Given the description of an element on the screen output the (x, y) to click on. 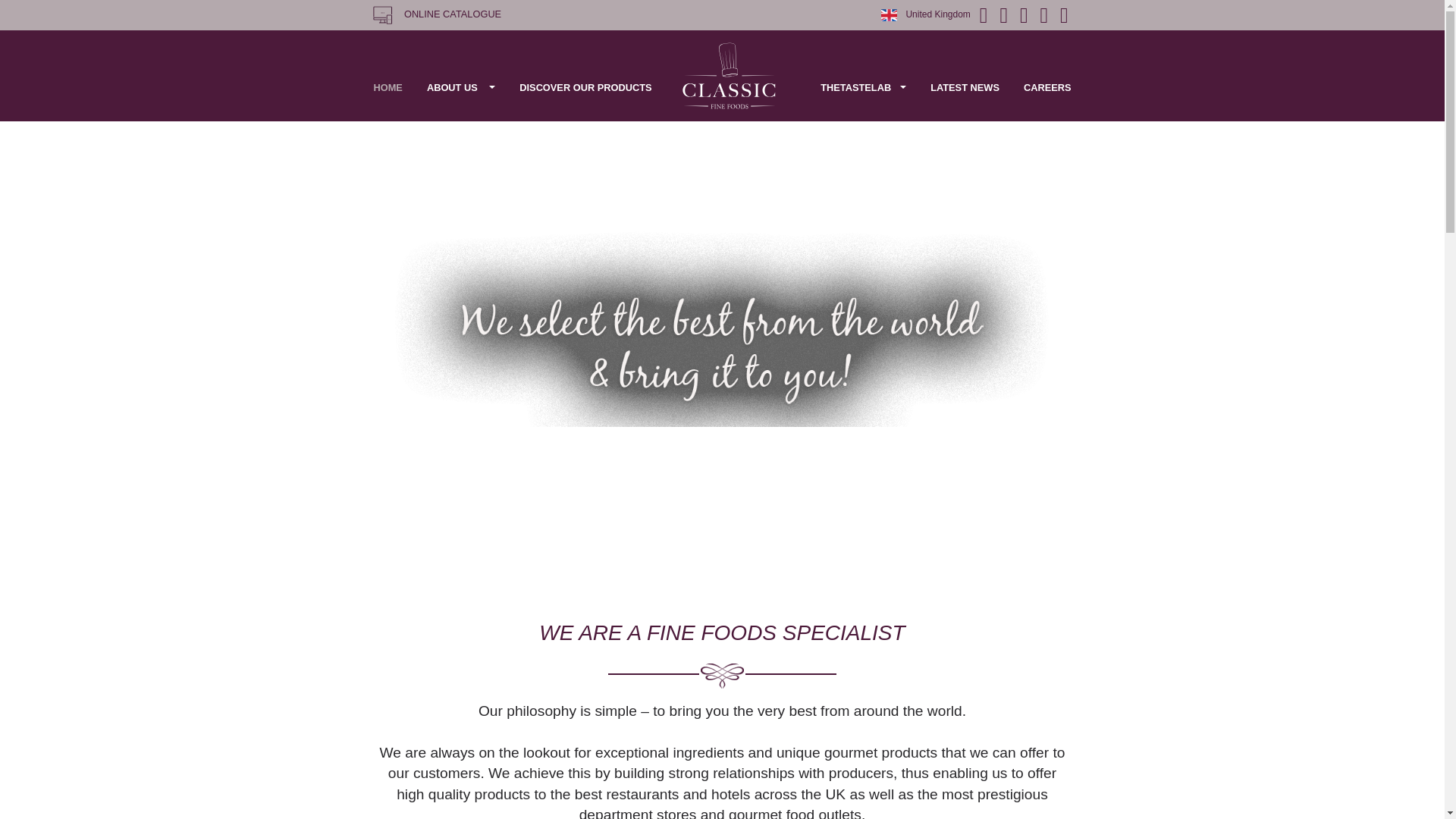
CAREERS (1308, 123)
THETASTELAB (1078, 123)
ONLINE CATALOGUE (543, 18)
ABOUT US (576, 123)
HOME (485, 123)
LATEST NEWS (1206, 123)
DISCOVER OUR PRODUCTS (732, 123)
